Given the description of an element on the screen output the (x, y) to click on. 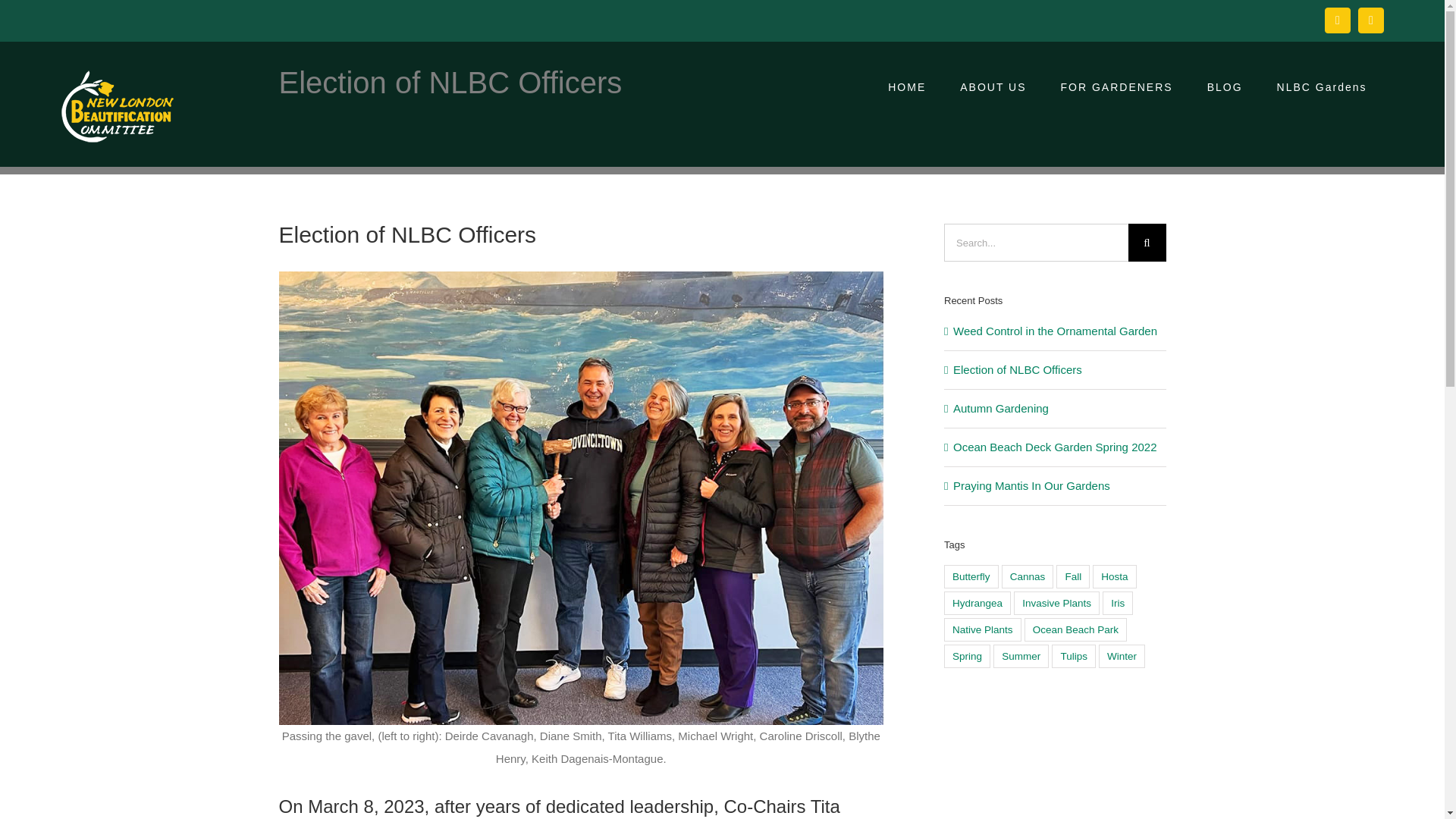
Ocean Beach Deck Garden Spring 2022 (1055, 446)
Election of NLBC Officers (1017, 369)
Butterfly (970, 576)
Facebook (1337, 20)
Facebook (1337, 20)
Autumn Gardening (1000, 408)
BLOG (1224, 86)
Weed Control in the Ornamental Garden (1055, 330)
ABOUT US (993, 86)
Hosta (1114, 576)
